Given the description of an element on the screen output the (x, y) to click on. 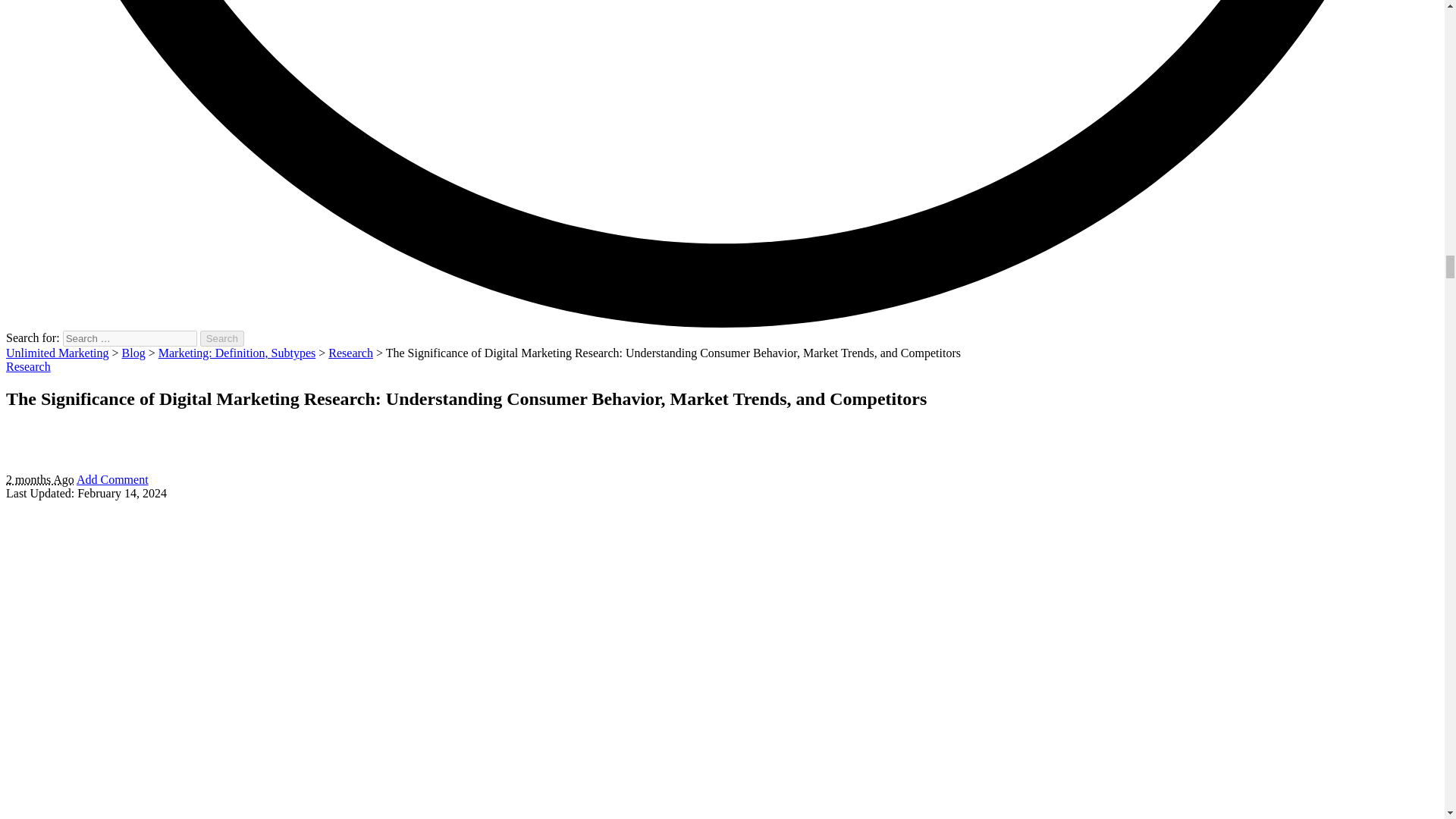
Search (222, 338)
Go to Blog. (133, 352)
Go to the Research Category archives. (350, 352)
Go to Unlimited Marketing. (57, 352)
Go to the Marketing: Definition, Subtypes Category archives. (236, 352)
Search (222, 338)
